Given the description of an element on the screen output the (x, y) to click on. 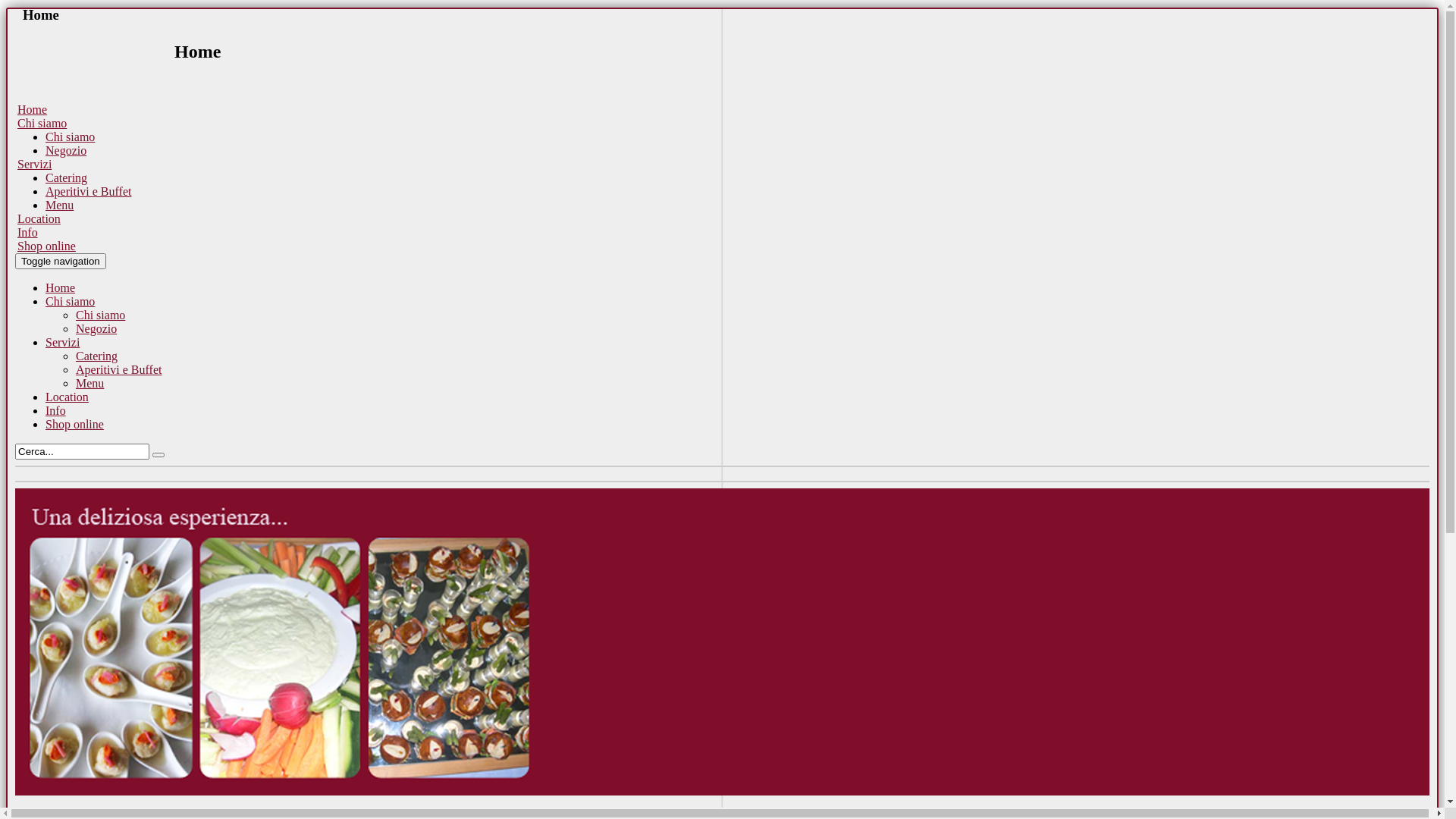
Negozio Element type: text (95, 328)
Menu Element type: text (59, 204)
Servizi Element type: text (34, 163)
Location Element type: text (38, 218)
Aperitivi e Buffet Element type: text (118, 369)
Toggle navigation Element type: text (60, 261)
Location Element type: text (66, 396)
Menu Element type: text (89, 382)
Home Page, shortcut key=1 Element type: hover (722, 59)
Chi siamo Element type: text (69, 300)
Chi siamo Element type: text (69, 136)
Chi siamo Element type: text (100, 314)
Info Element type: text (27, 231)
Info Element type: text (55, 410)
Home Element type: text (60, 287)
Catering Element type: text (96, 355)
Aperitivi e Buffet Element type: text (88, 191)
Shop online Element type: text (74, 423)
Shop online Element type: text (46, 245)
Catering Element type: text (66, 177)
Chi siamo Element type: text (42, 122)
Home Element type: text (32, 109)
Negozio Element type: text (65, 150)
Servizi Element type: text (62, 341)
